Given the description of an element on the screen output the (x, y) to click on. 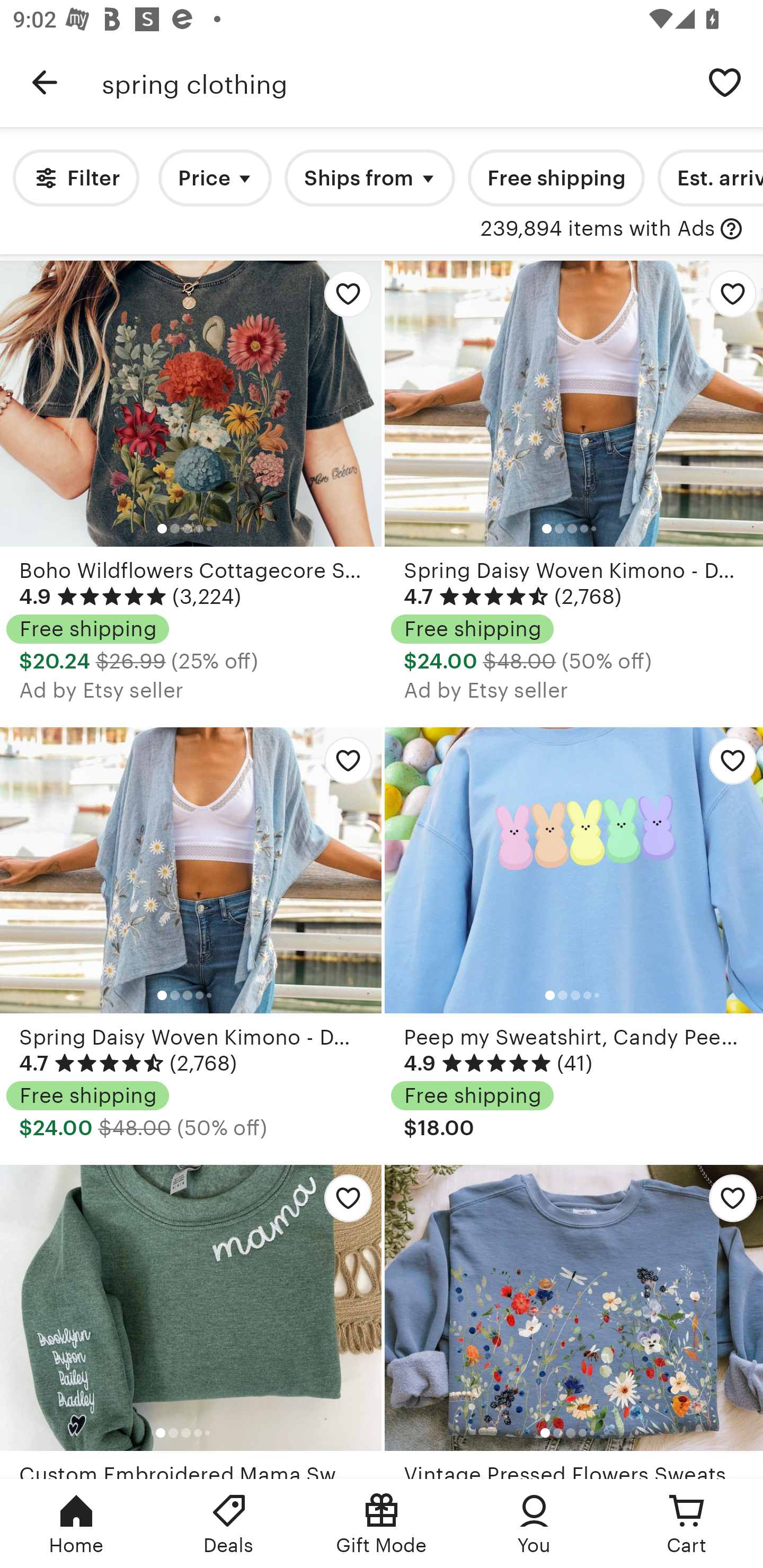
Navigate up (44, 82)
Save search (724, 81)
spring clothing (393, 82)
Filter (75, 177)
Price (214, 177)
Ships from (369, 177)
Free shipping (555, 177)
239,894 items with Ads (597, 228)
with Ads (730, 228)
Deals (228, 1523)
Gift Mode (381, 1523)
You (533, 1523)
Cart (686, 1523)
